Given the description of an element on the screen output the (x, y) to click on. 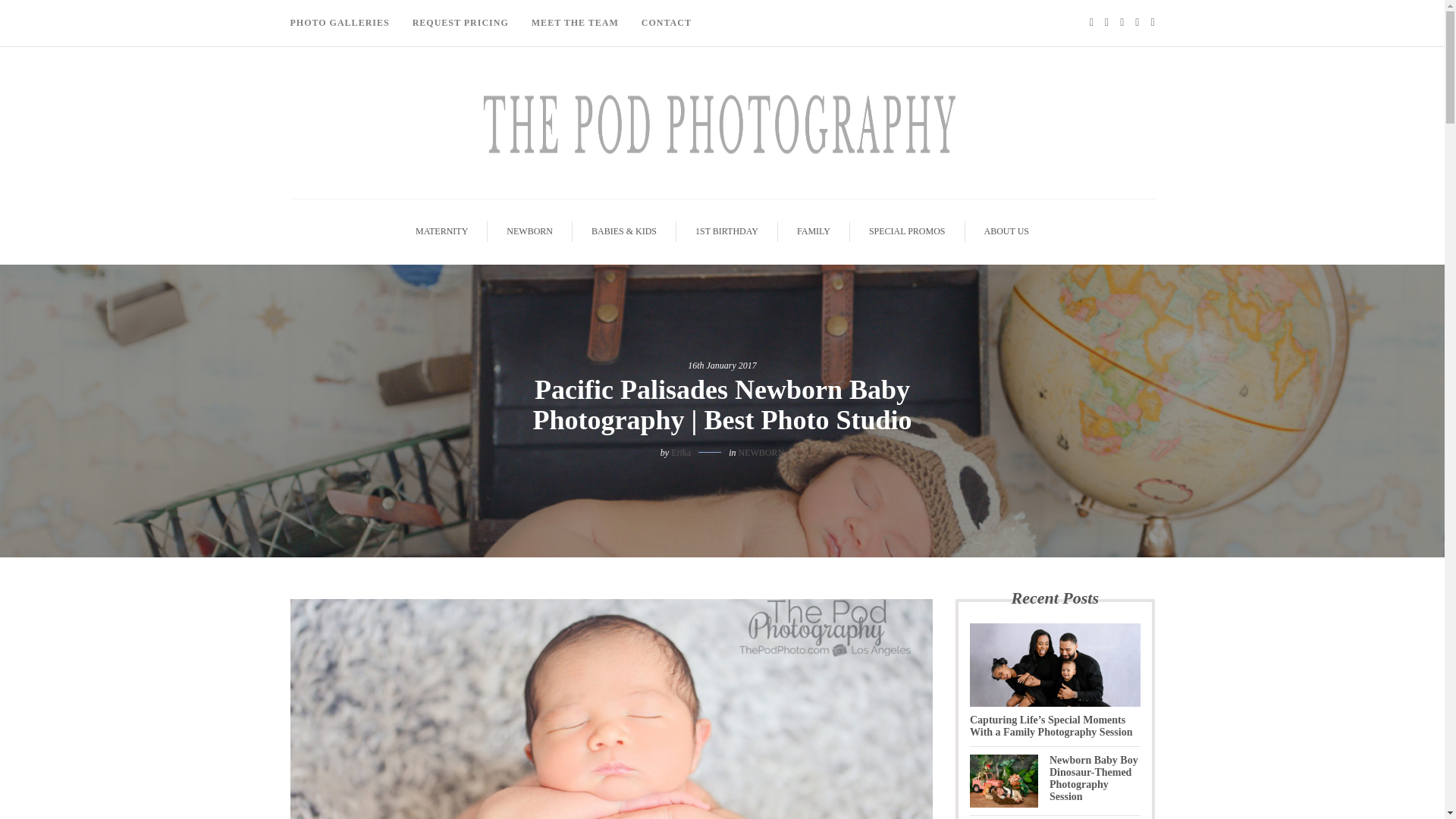
REQUEST PRICING (460, 22)
NEWBORN (529, 231)
MEET THE TEAM (574, 22)
NEWBORN (761, 452)
MATERNITY (441, 231)
PHOTO GALLERIES (344, 22)
1ST BIRTHDAY (727, 231)
CONTACT (666, 22)
Posts by Erika (680, 452)
SPECIAL PROMOS (907, 231)
Erika (680, 452)
FAMILY (813, 231)
ABOUT US (1006, 231)
